Given the description of an element on the screen output the (x, y) to click on. 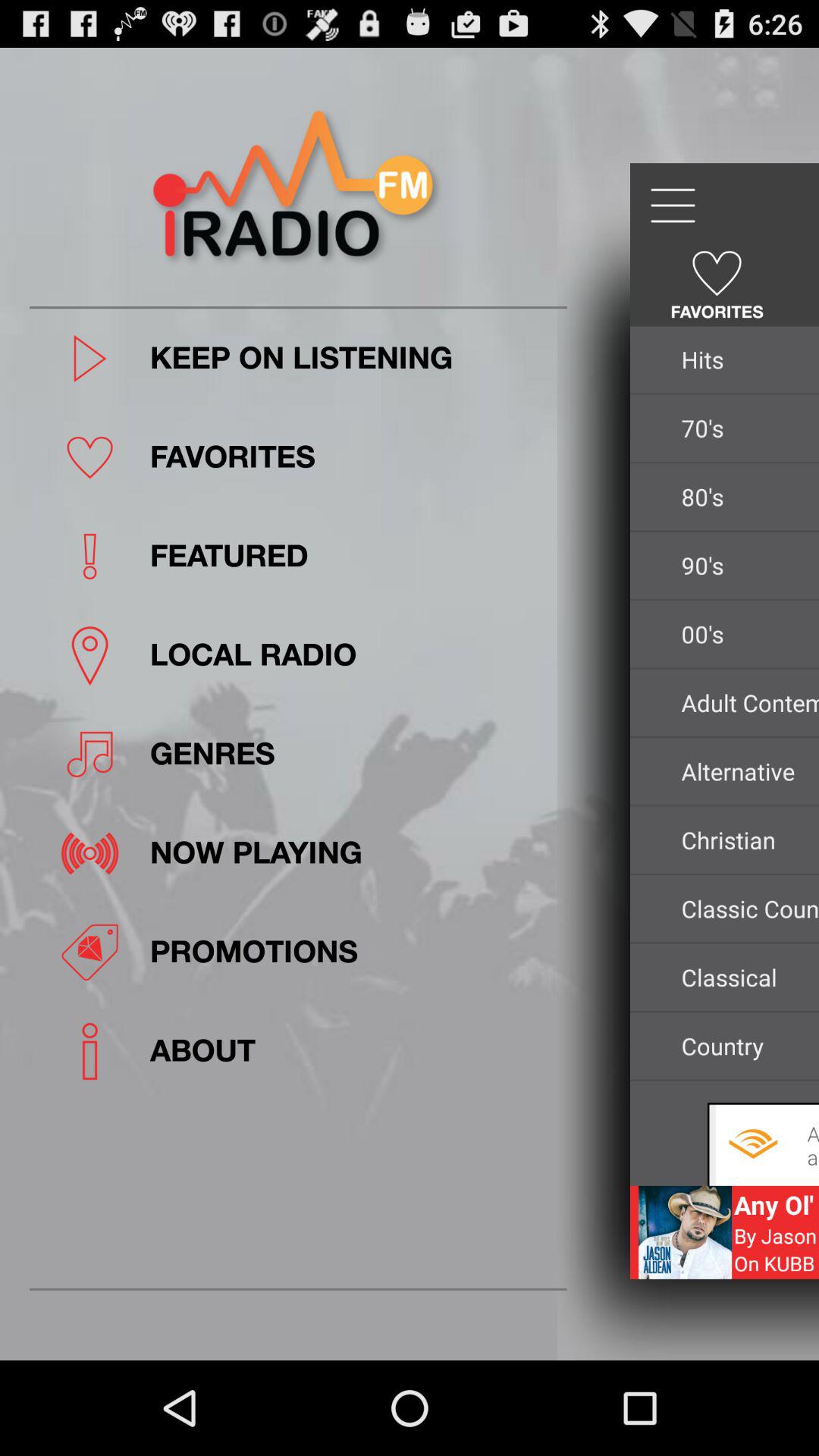
turn on the icon to the right of the now playing (745, 839)
